Given the description of an element on the screen output the (x, y) to click on. 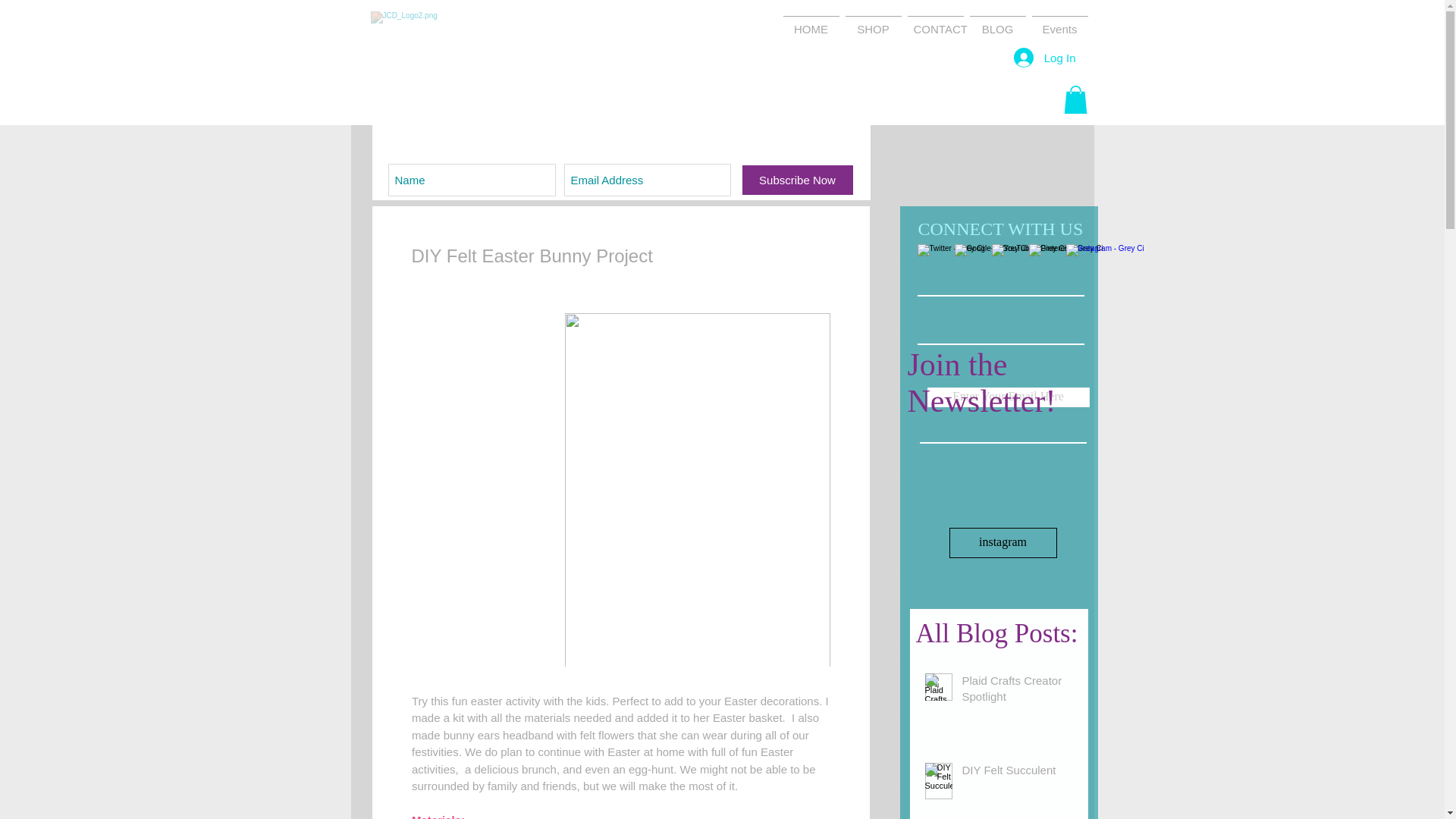
CONTACT (935, 22)
Events (1058, 22)
HOME (809, 22)
Log In (1044, 57)
Subscribe Now (796, 179)
SHOP (872, 22)
BLOG (996, 22)
